Given the description of an element on the screen output the (x, y) to click on. 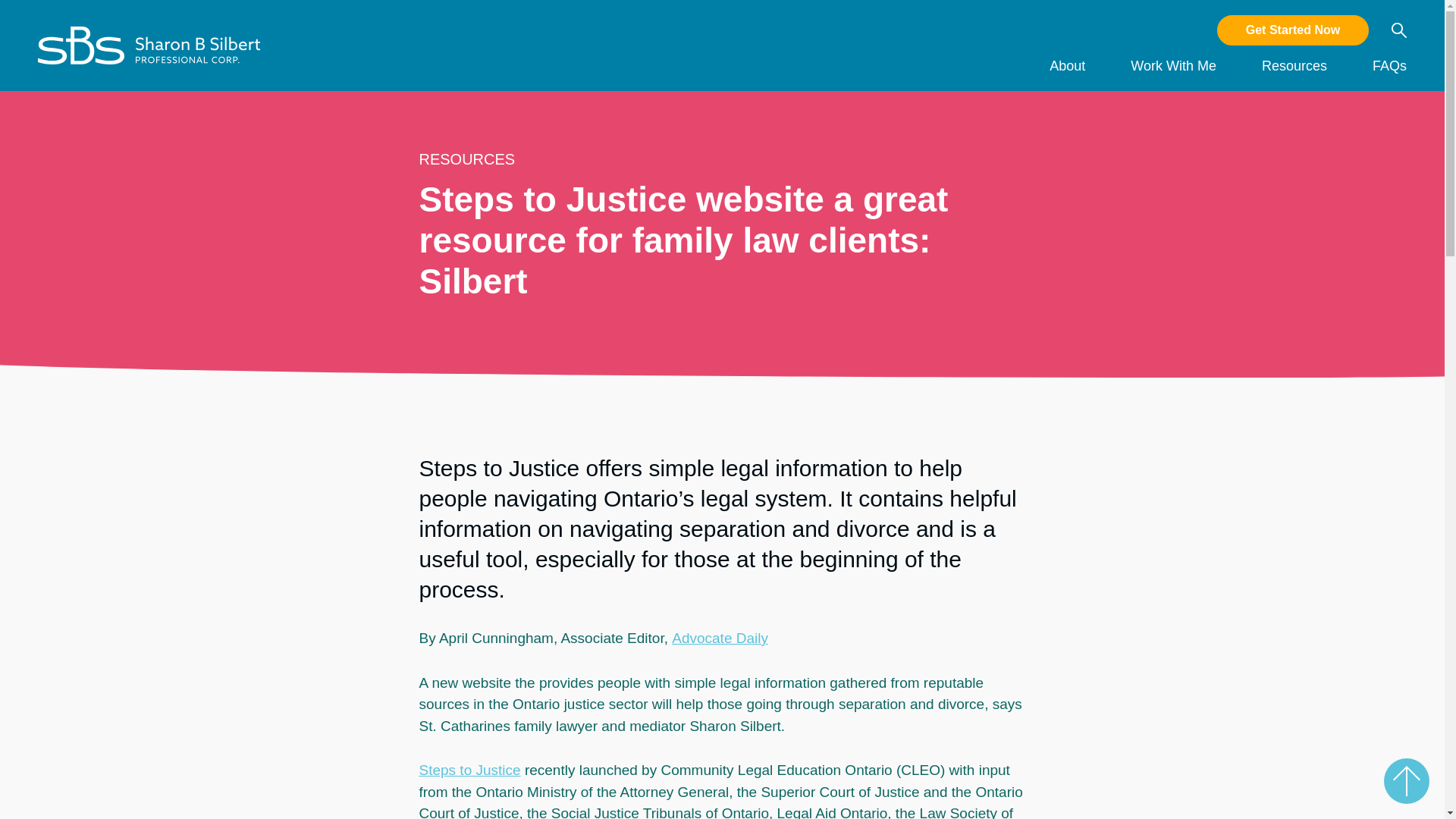
Resources (1294, 75)
Steps to Justice (469, 770)
Work With Me (1173, 75)
Advocate Daily (719, 637)
Get Started Now (1292, 30)
FAQs (1389, 75)
About (1067, 75)
